Given the description of an element on the screen output the (x, y) to click on. 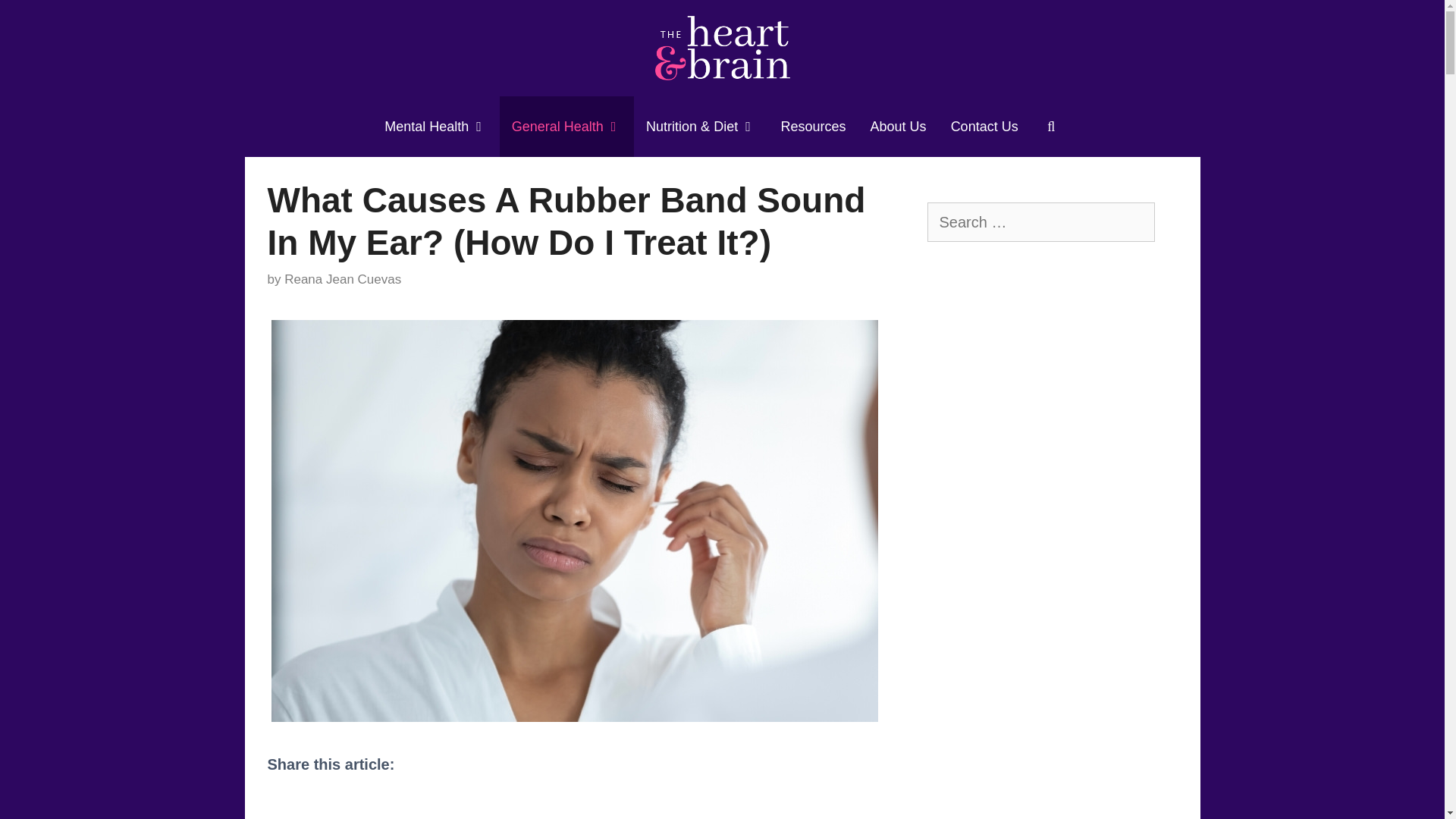
General Health (566, 126)
Resources (813, 126)
Reana Jean Cuevas (342, 278)
Mental Health (435, 126)
View all posts by Reana Jean Cuevas (342, 278)
Contact Us (984, 126)
About Us (899, 126)
Search for: (1040, 221)
